Given the description of an element on the screen output the (x, y) to click on. 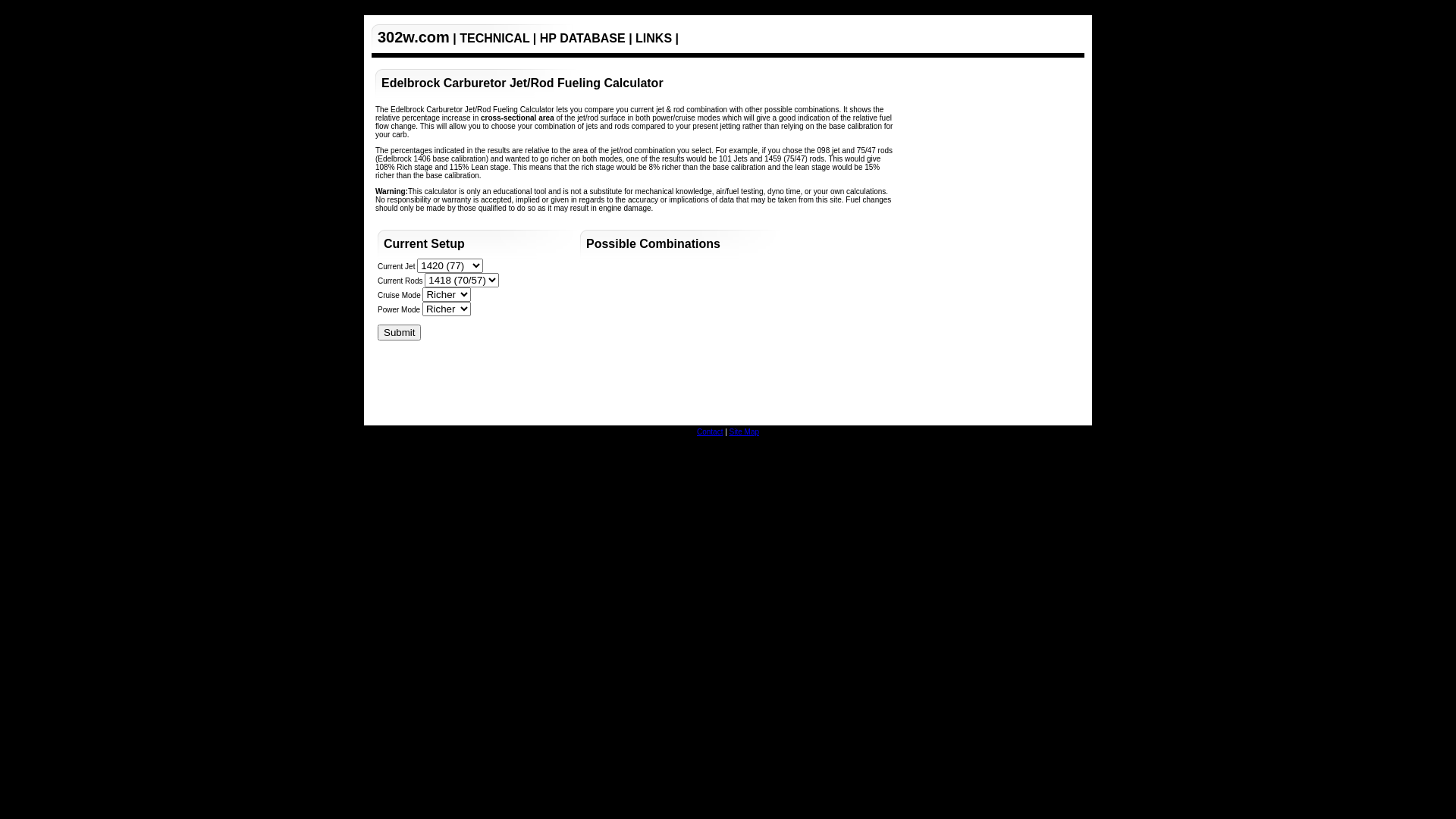
Submit Element type: text (398, 332)
Site Map Element type: text (744, 431)
302w.com Element type: text (413, 36)
TECHNICAL Element type: text (494, 37)
HP DATABASE Element type: text (582, 37)
Contact Element type: text (709, 431)
LINKS Element type: text (653, 37)
